Given the description of an element on the screen output the (x, y) to click on. 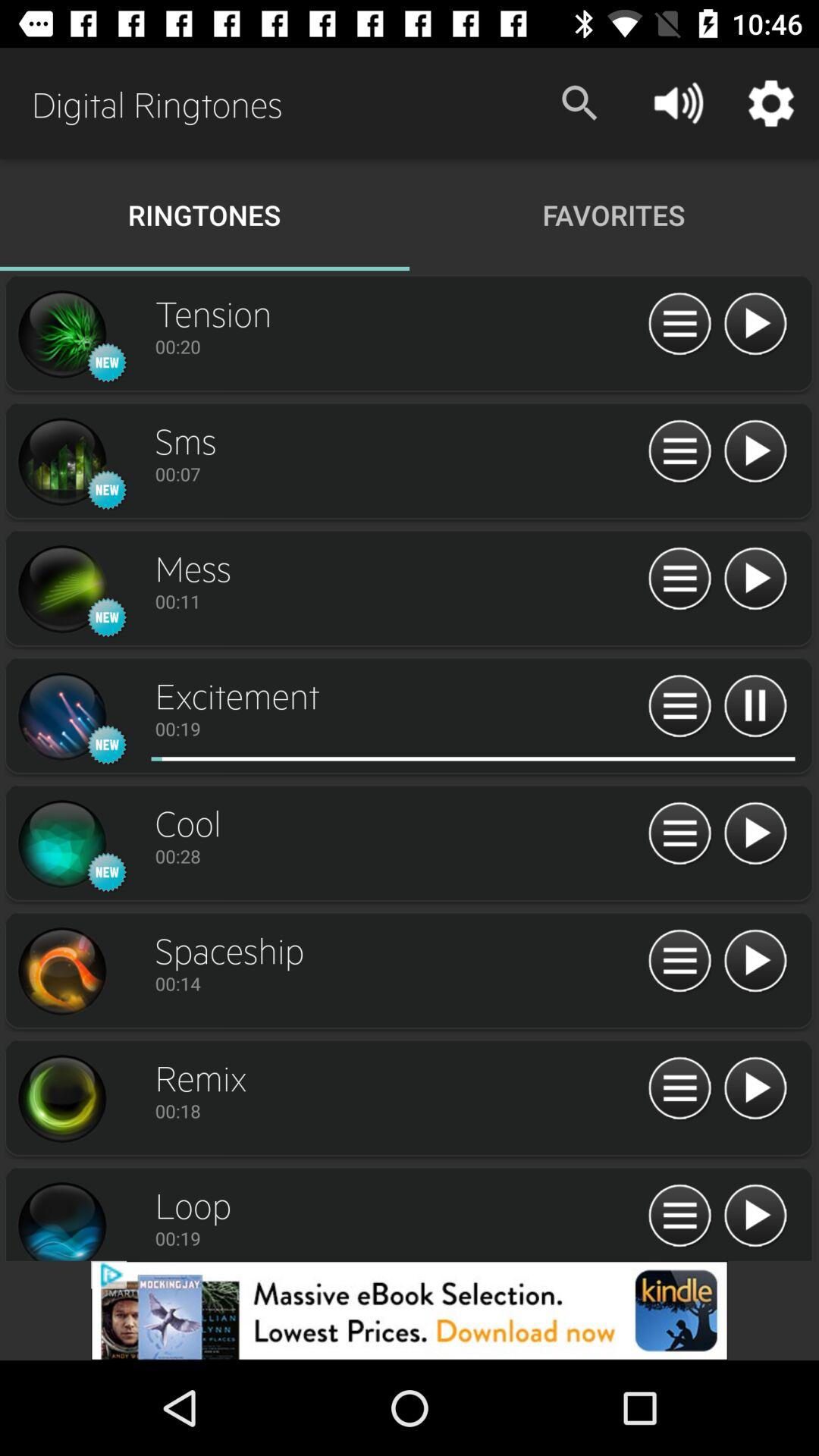
profile page (61, 462)
